Given the description of an element on the screen output the (x, y) to click on. 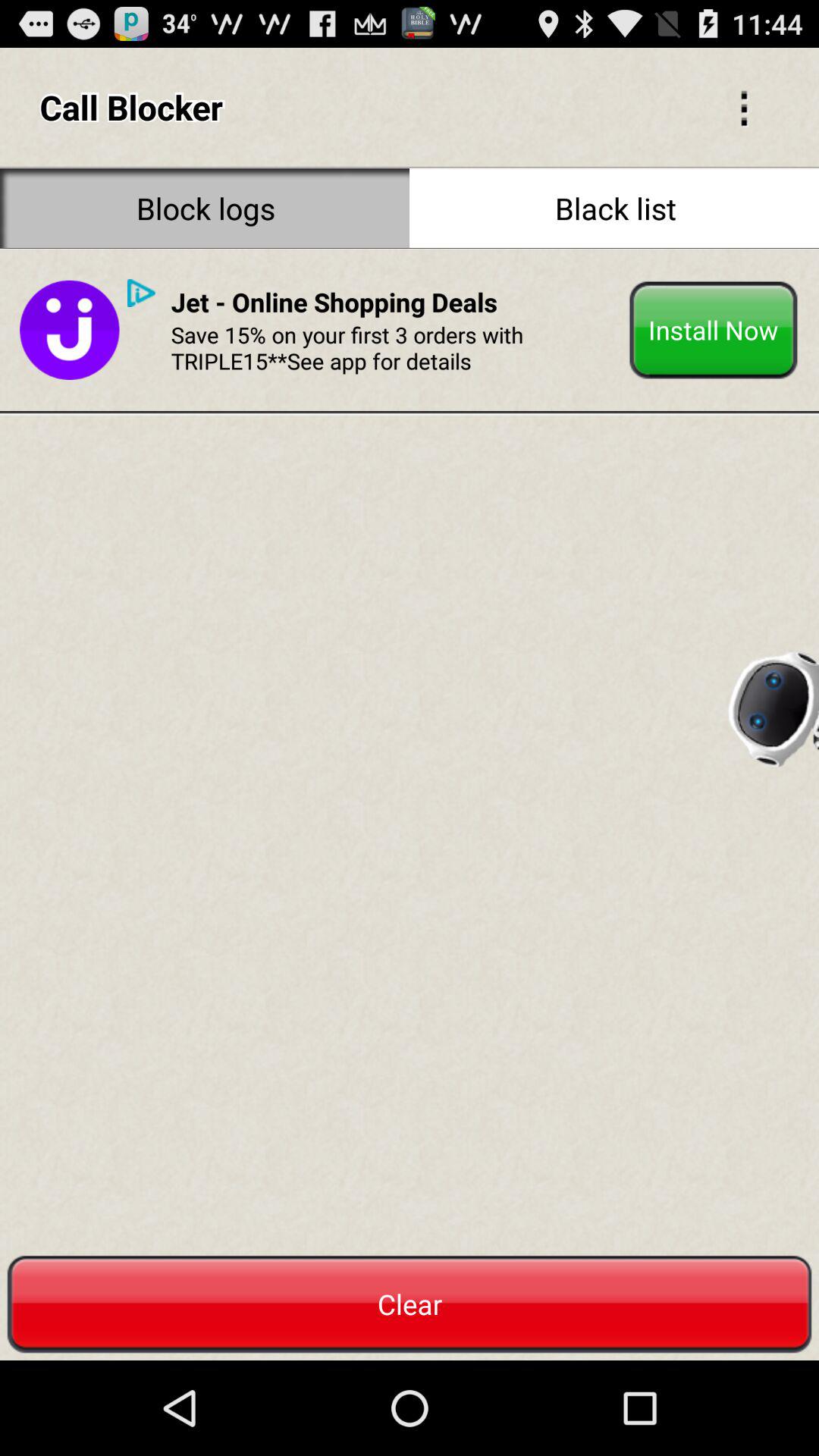
tap clear icon (409, 1304)
